Given the description of an element on the screen output the (x, y) to click on. 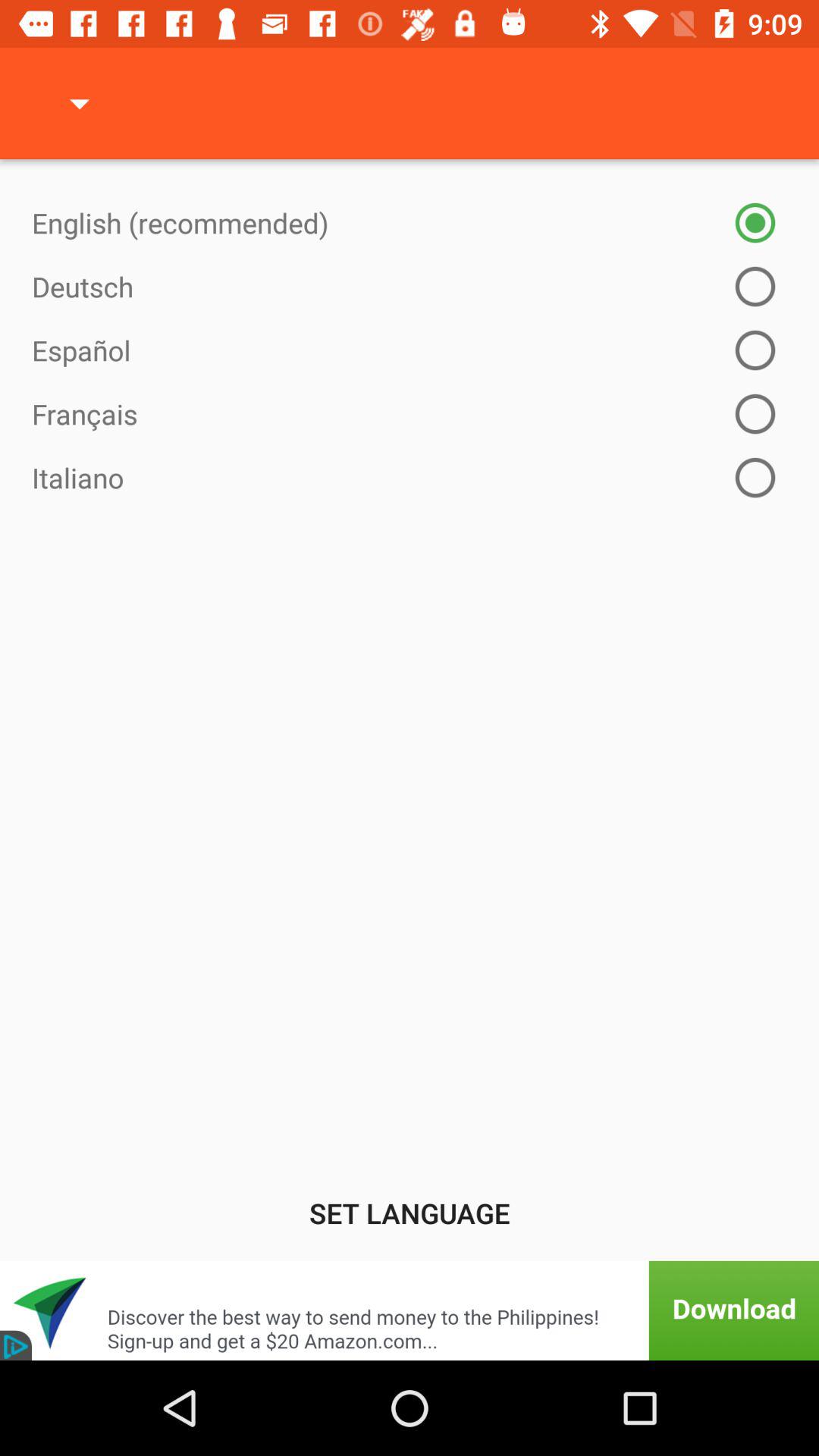
turn on icon below set language item (409, 1310)
